Given the description of an element on the screen output the (x, y) to click on. 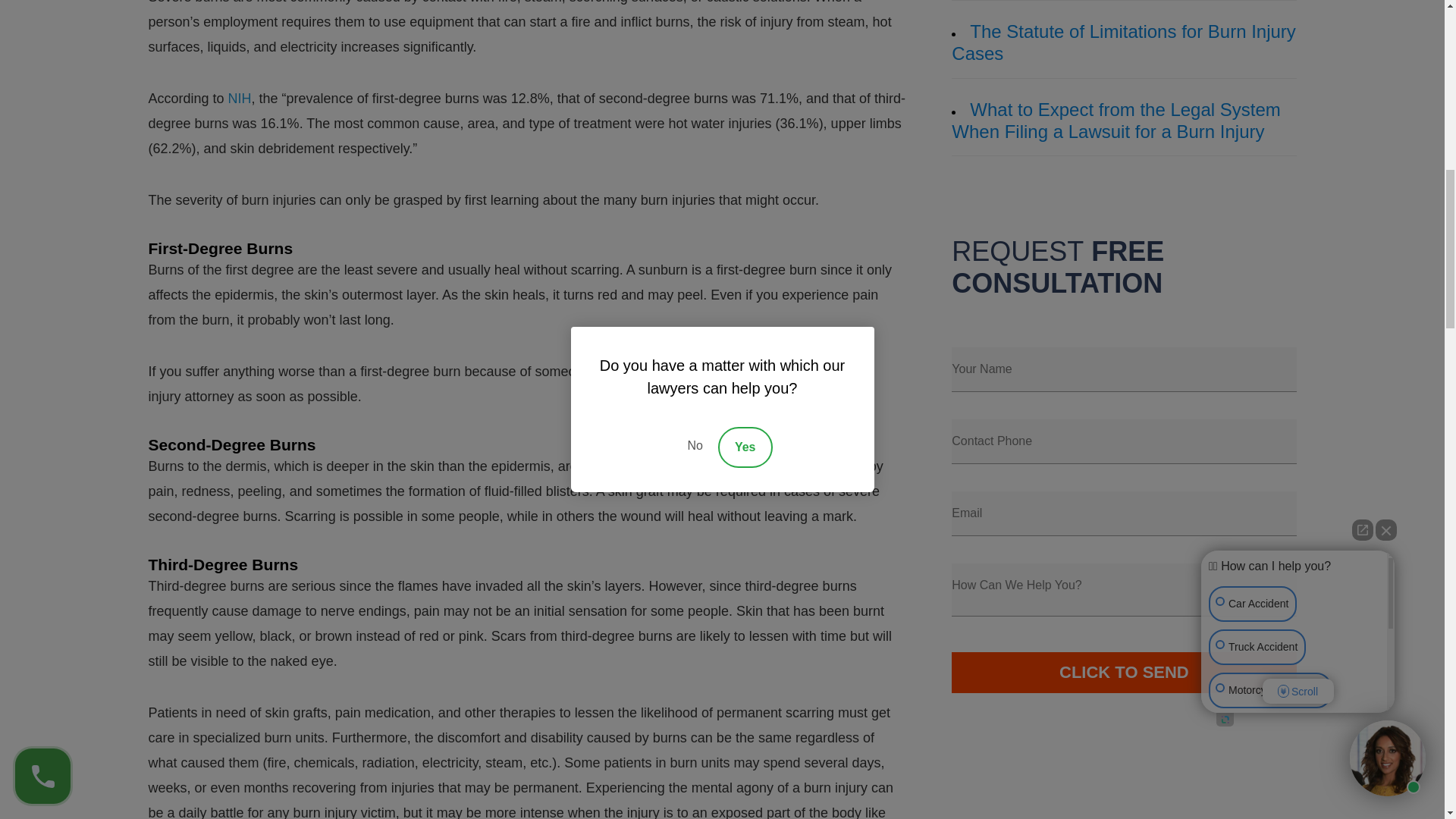
CLICK TO SEND (1123, 671)
